Given the description of an element on the screen output the (x, y) to click on. 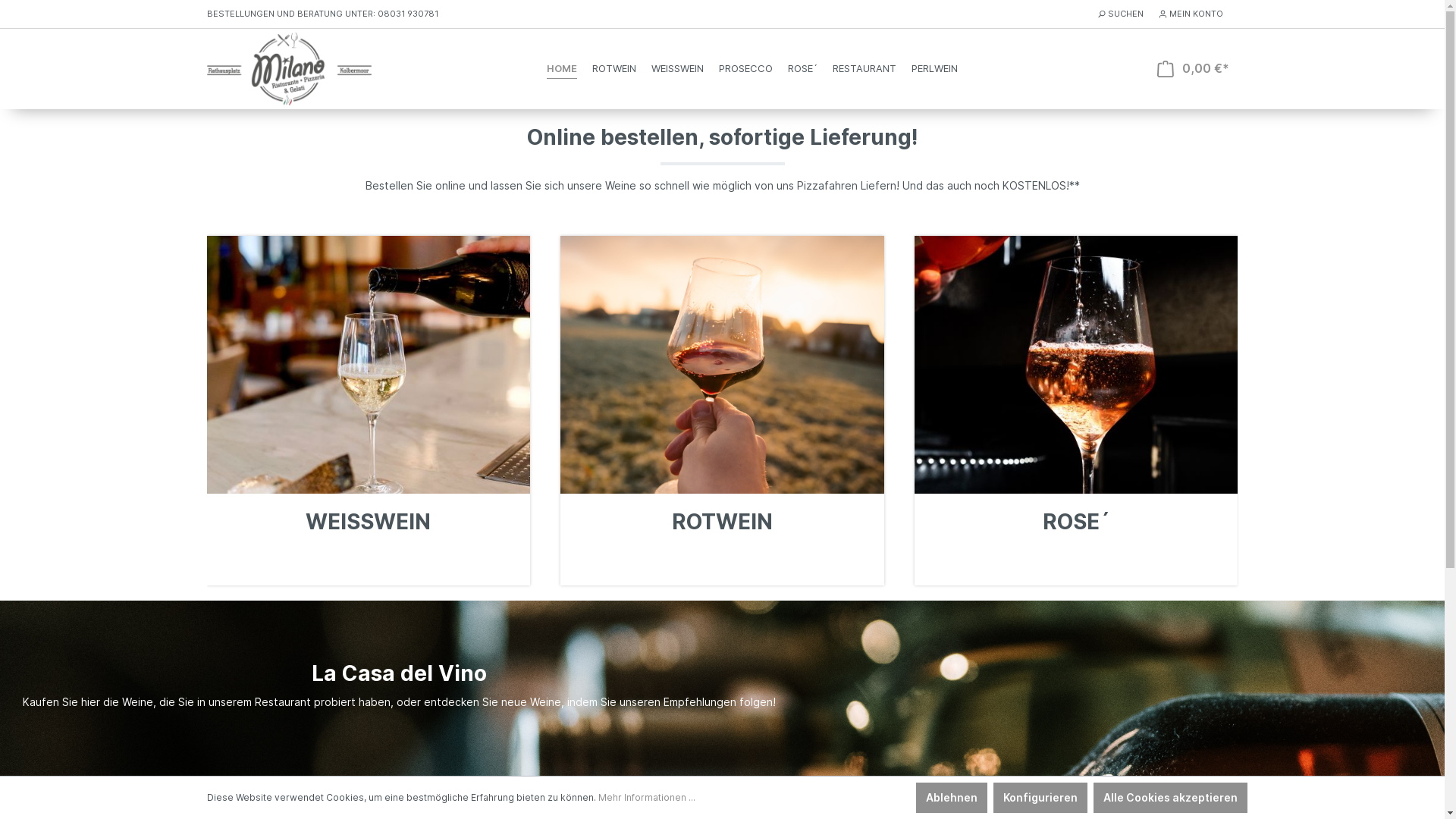
Konfigurieren Element type: text (1040, 797)
RESTAURANT Element type: text (864, 68)
Zur Startseite wechseln Element type: hover (288, 67)
Ablehnen Element type: text (951, 797)
HOME Element type: text (561, 68)
PERLWEIN Element type: text (934, 68)
Alle Cookies akzeptieren Element type: text (1170, 797)
WEISSWEIN Element type: text (677, 68)
PROSECCO Element type: text (745, 68)
Mehr Informationen ... Element type: text (645, 797)
ROTWEIN Element type: text (614, 68)
